Given the description of an element on the screen output the (x, y) to click on. 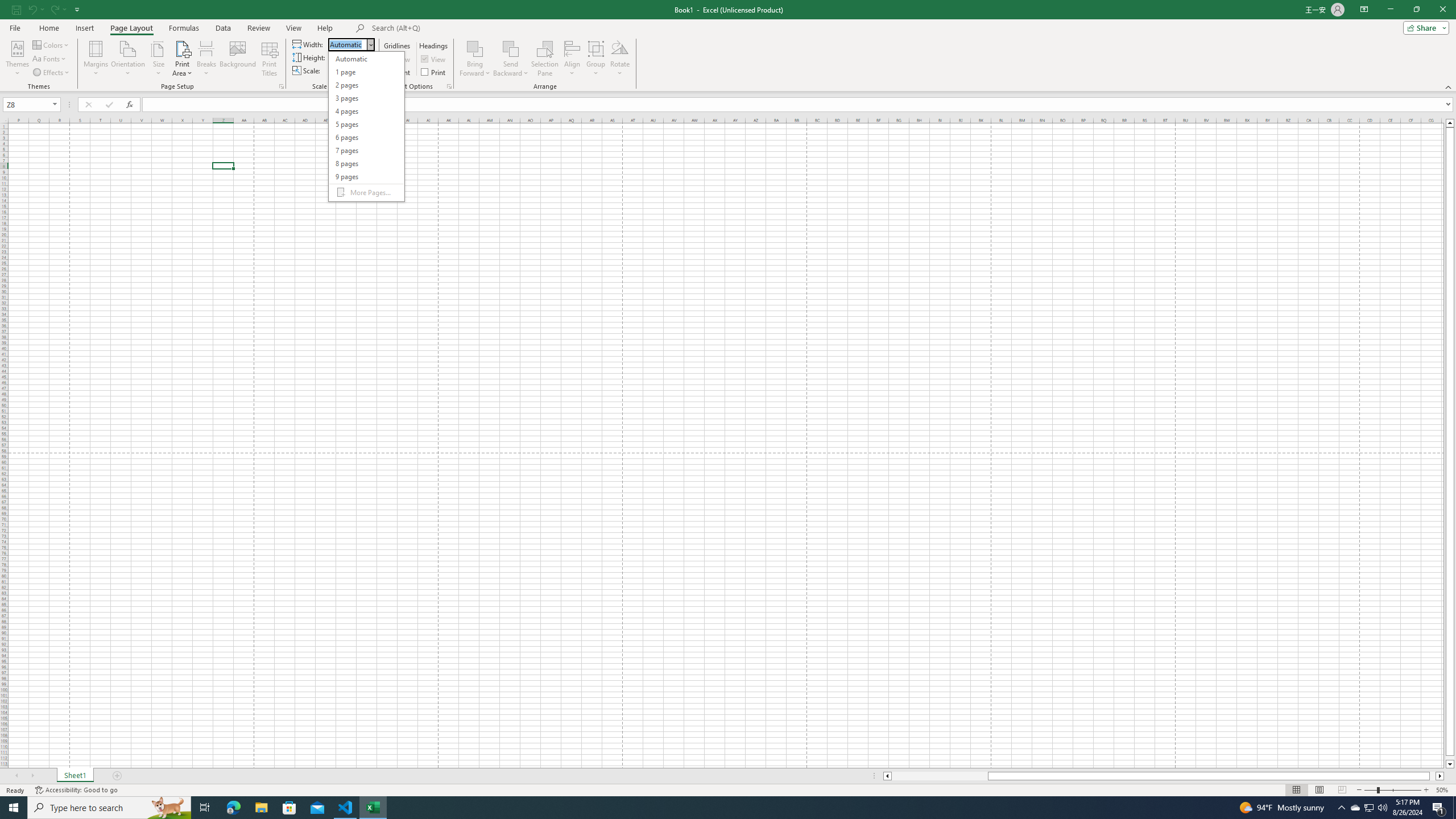
View (434, 58)
Line up (1449, 122)
Colors (51, 44)
Page Setup (374, 85)
Sheet1 (74, 775)
8 pages (366, 163)
Size (158, 58)
Zoom Out (1370, 790)
Accessibility Checker Accessibility: Good to go (76, 790)
System (6, 6)
Rotate (619, 58)
6 pages (366, 137)
Print Titles (269, 58)
Data (223, 28)
Effects (51, 72)
